Given the description of an element on the screen output the (x, y) to click on. 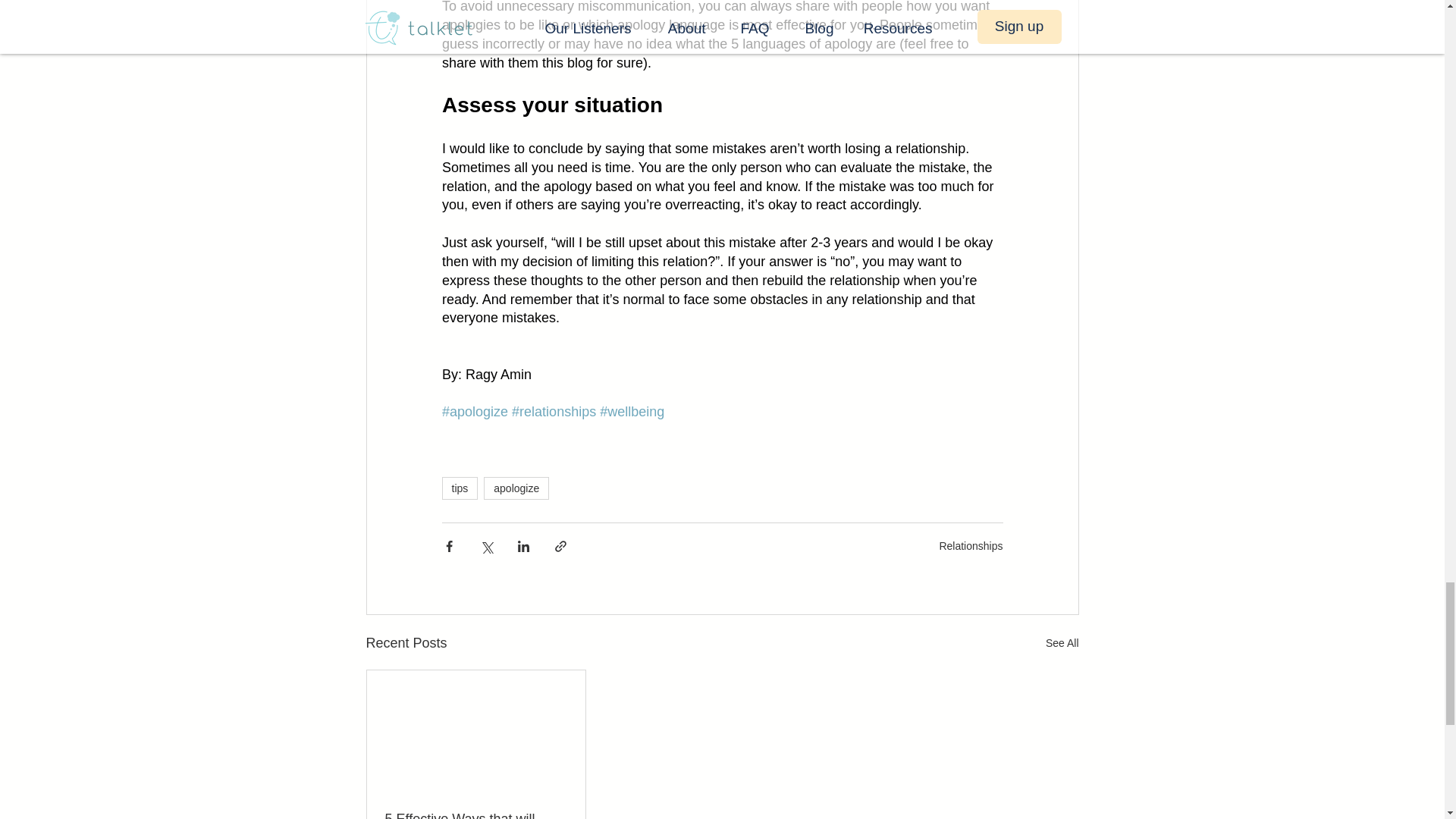
apologize (515, 487)
5 Effective Ways that will Help You Express Love Better (476, 815)
Relationships (971, 545)
See All (1061, 643)
tips (459, 487)
